Given the description of an element on the screen output the (x, y) to click on. 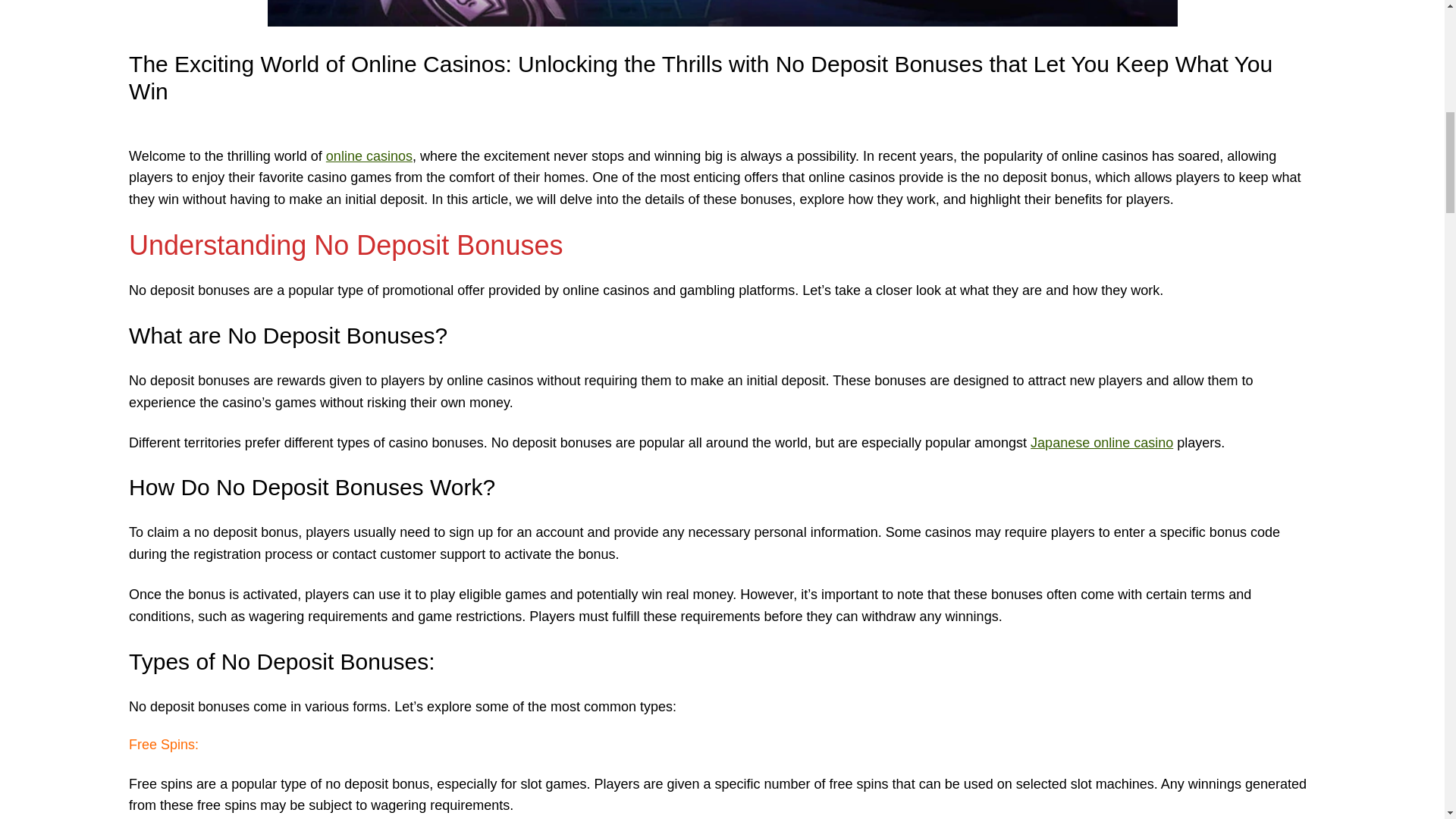
online casinos (369, 155)
Japanese online casino (1101, 442)
